Given the description of an element on the screen output the (x, y) to click on. 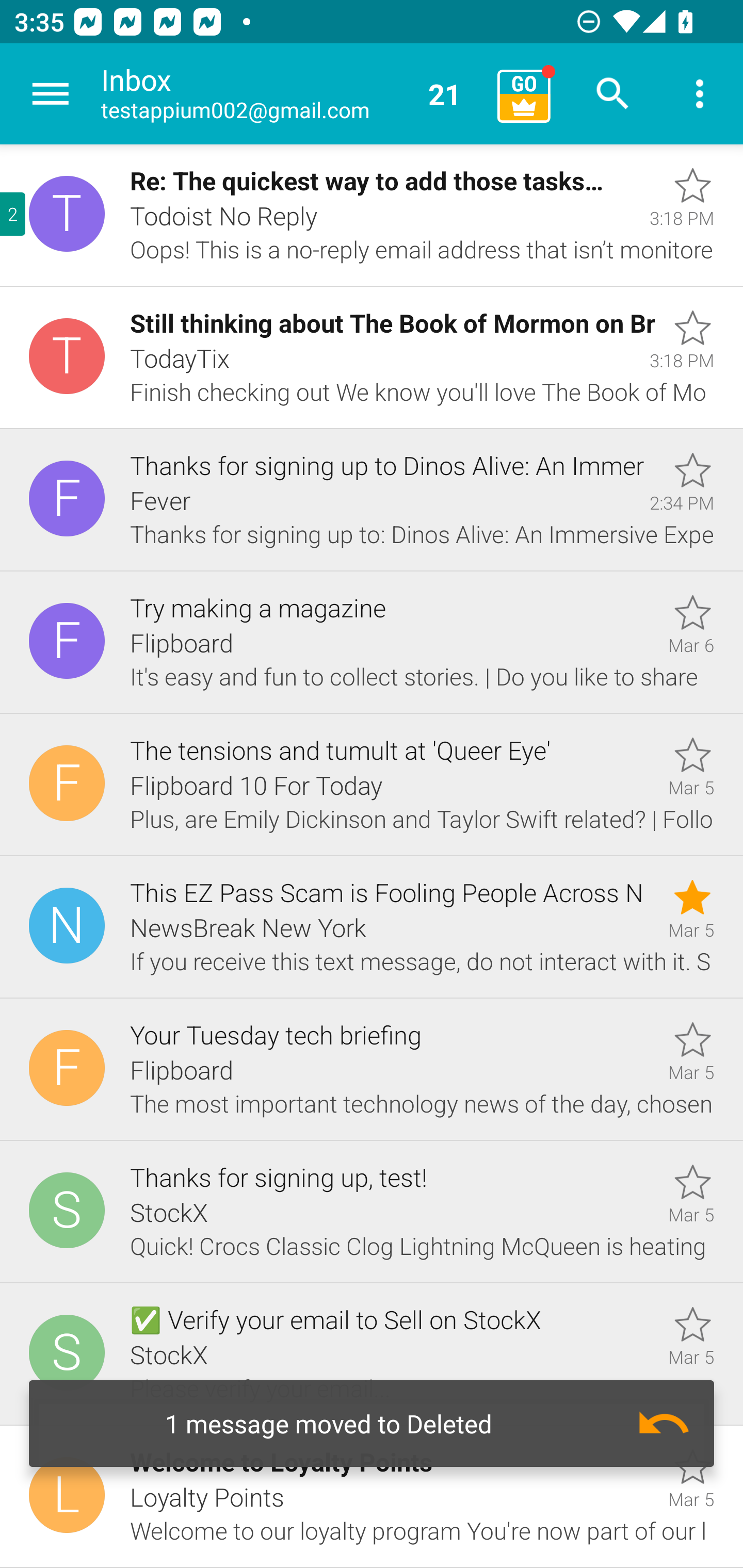
Navigate up (50, 93)
Inbox testappium002@gmail.com 21 (291, 93)
Search (612, 93)
More options (699, 93)
Undo 1 message moved to Deleted (371, 1423)
